Given the description of an element on the screen output the (x, y) to click on. 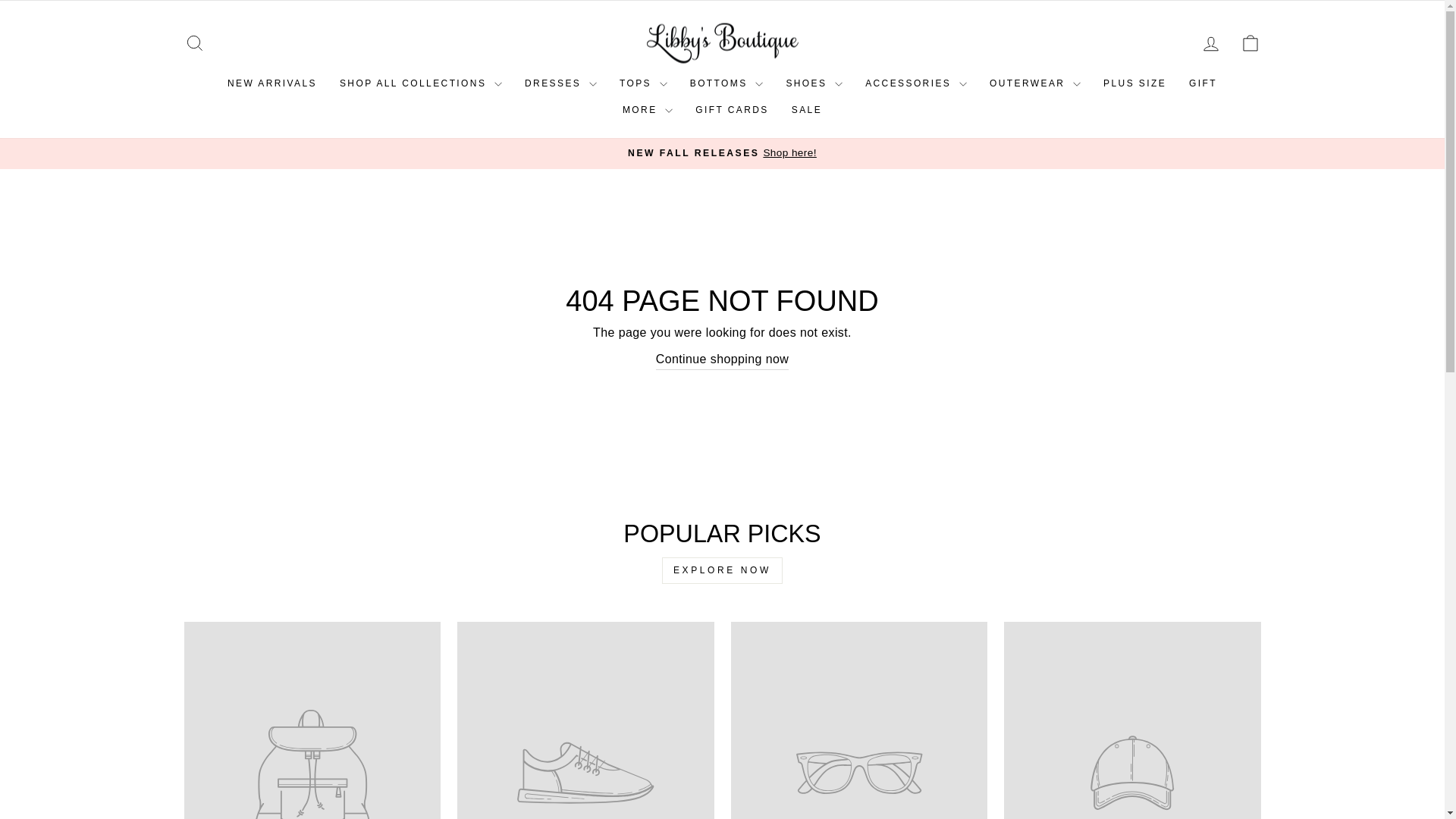
ICON-BAG-MINIMAL (1249, 43)
ACCOUNT (1210, 43)
ICON-SEARCH (194, 43)
